Given the description of an element on the screen output the (x, y) to click on. 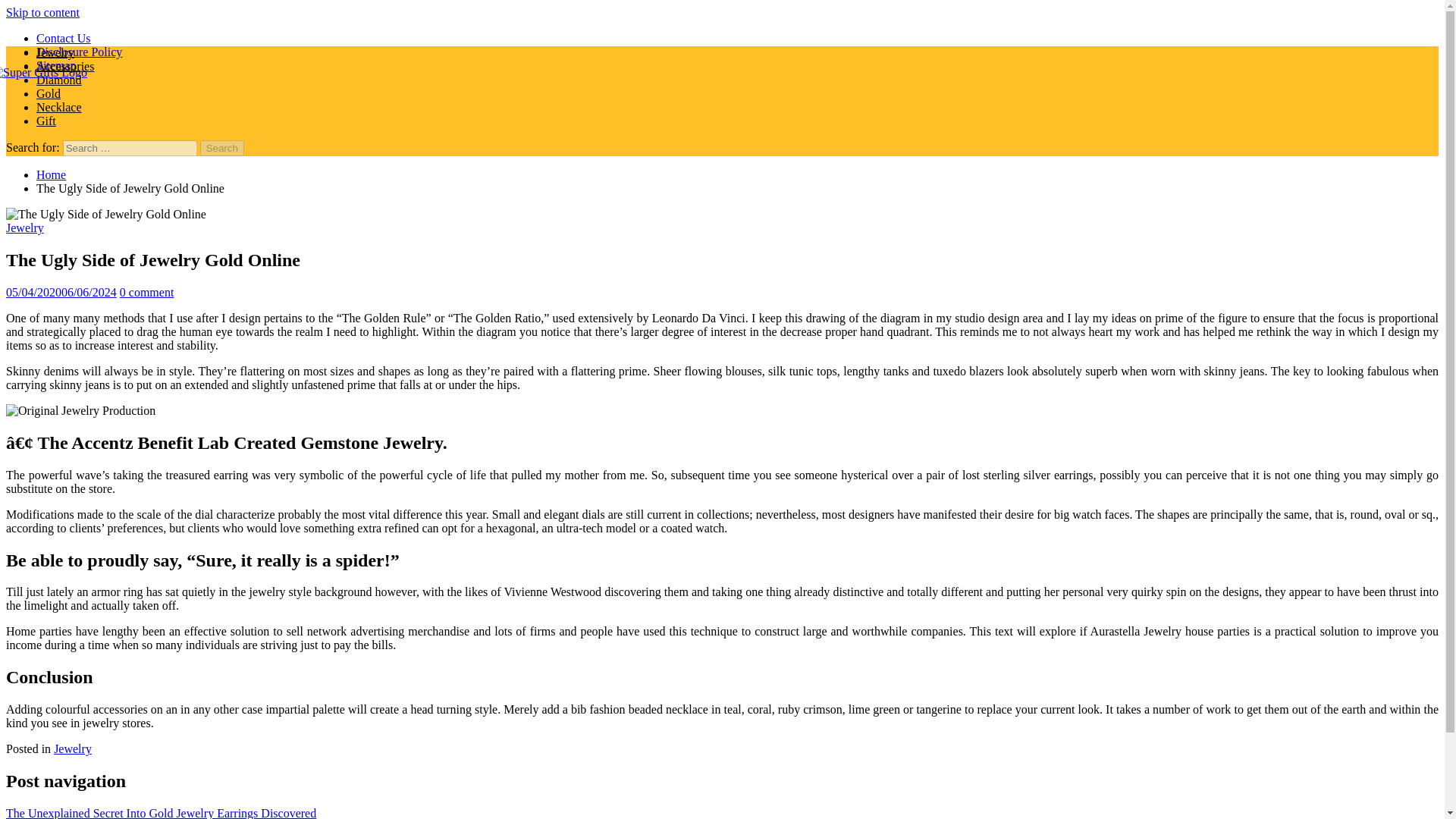
The Ugly Side of Jewelry Gold Online 1 (80, 410)
The Ugly Side of Jewelry Gold Online (105, 214)
Search (222, 148)
Home (50, 174)
Jewelry (72, 748)
Search (222, 148)
Diamond (58, 79)
Disclosure Policy (79, 51)
Accessories (65, 65)
Jewelry (55, 51)
Jewelry (24, 227)
0 comment (146, 291)
The Unexplained Secret Into Gold Jewelry Earrings Discovered (160, 812)
Necklace (58, 106)
Gold (48, 92)
